Given the description of an element on the screen output the (x, y) to click on. 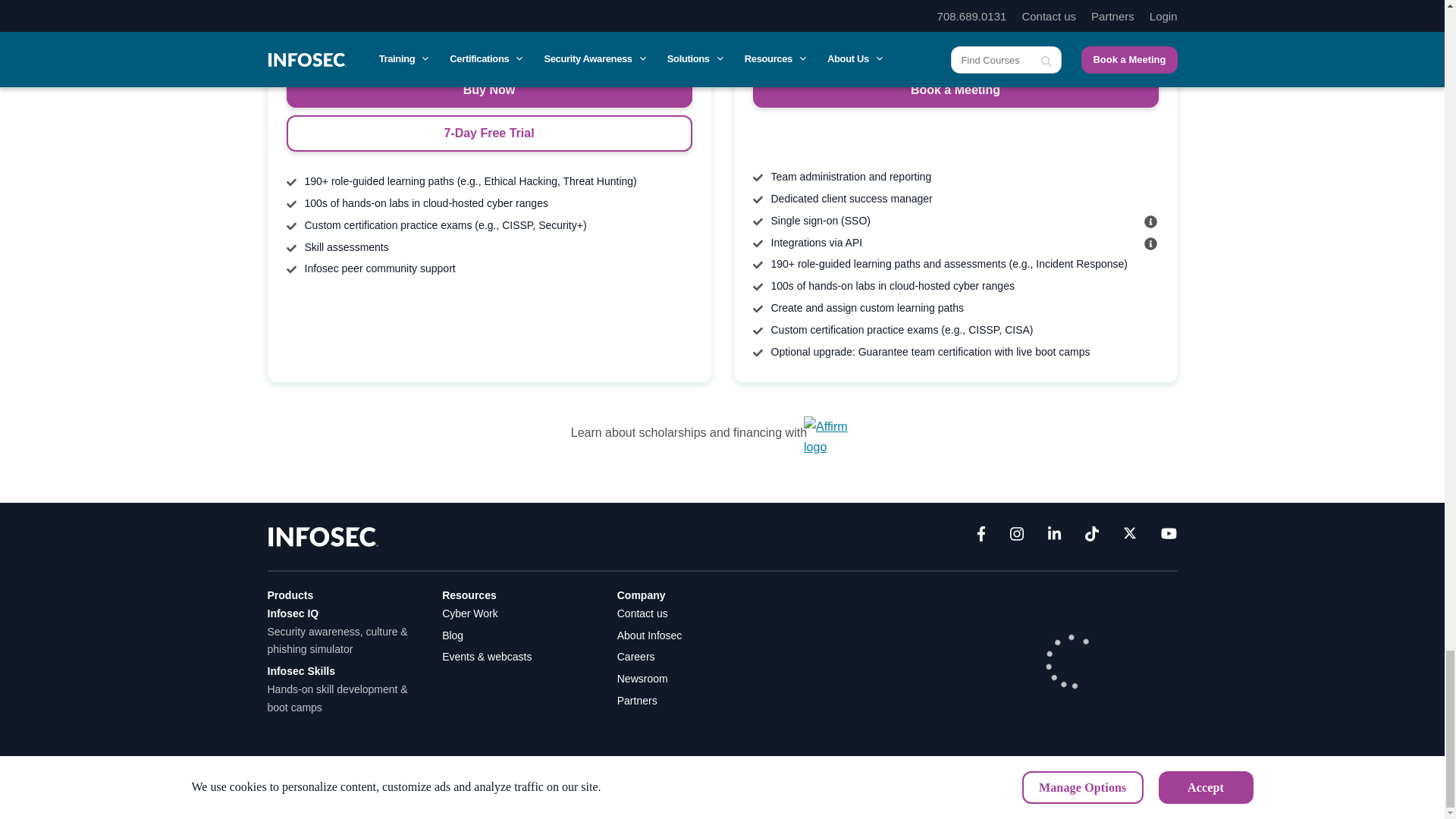
YouTube (1168, 536)
LinkedIn (1054, 536)
X (1129, 536)
TikTok (1091, 536)
Book a Meeting (954, 89)
Infosec (322, 535)
Instagram (1016, 536)
